Given the description of an element on the screen output the (x, y) to click on. 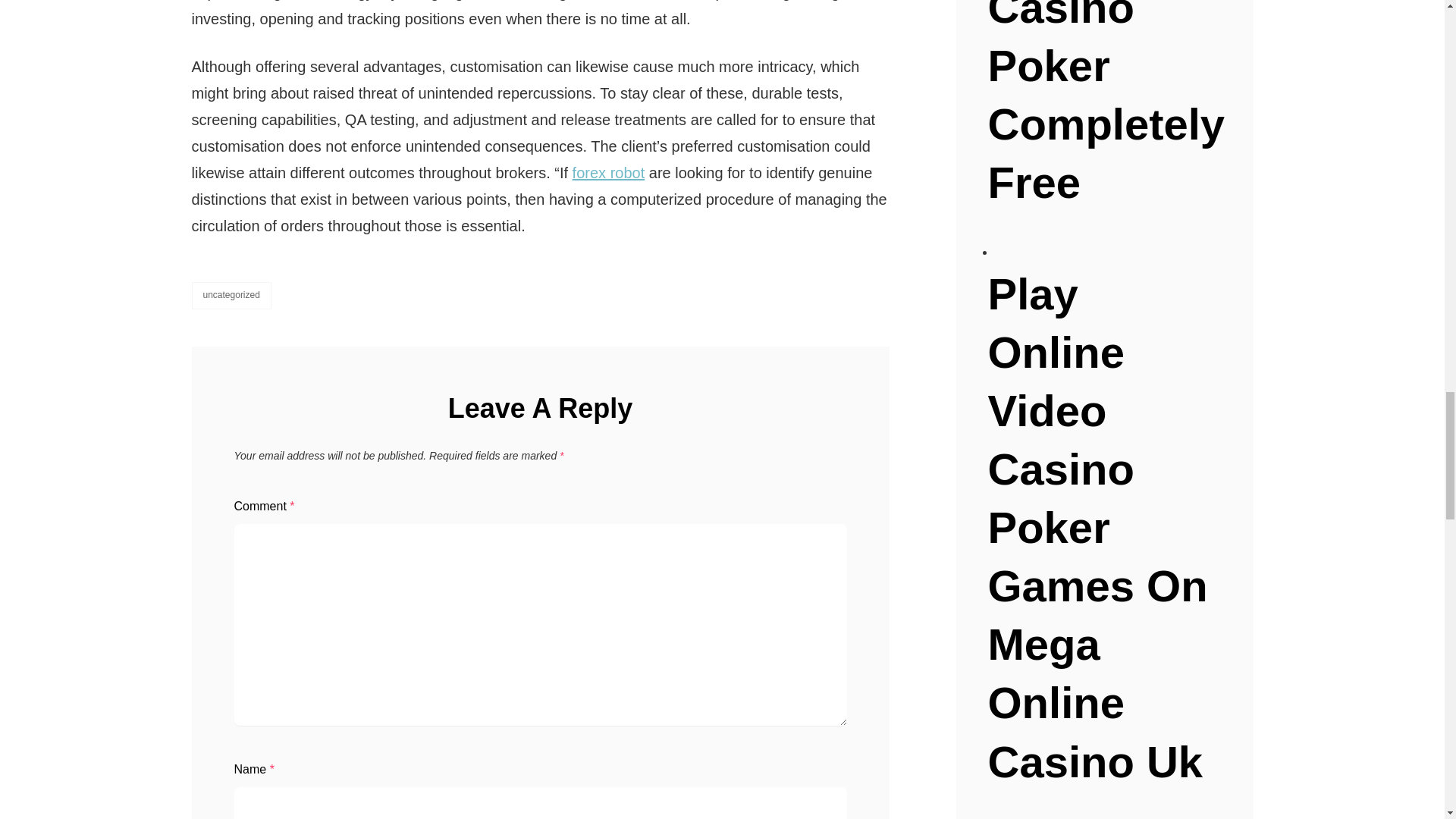
forex robot (608, 172)
uncategorized (230, 294)
